Given the description of an element on the screen output the (x, y) to click on. 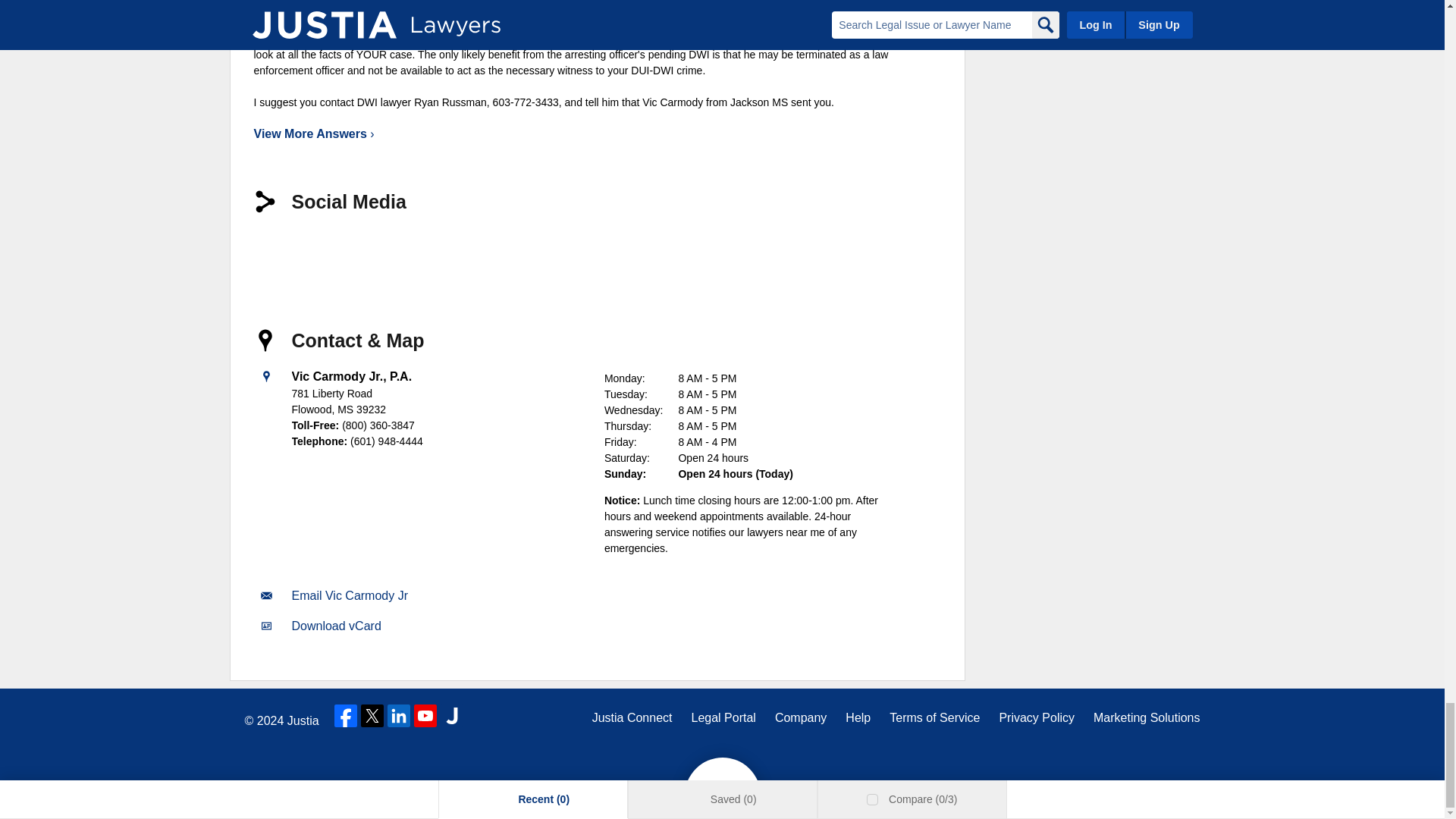
Vic Carmody Jr's Lawyers.com Profile (435, 251)
Vic Carmody Jr's Martindale Profile (488, 251)
 Justia Profile (328, 251)
Vic Carmody Jr on LinkedIn (275, 251)
Vic Carmody Jr's Avvo Profile (381, 251)
Facebook (345, 715)
